Given the description of an element on the screen output the (x, y) to click on. 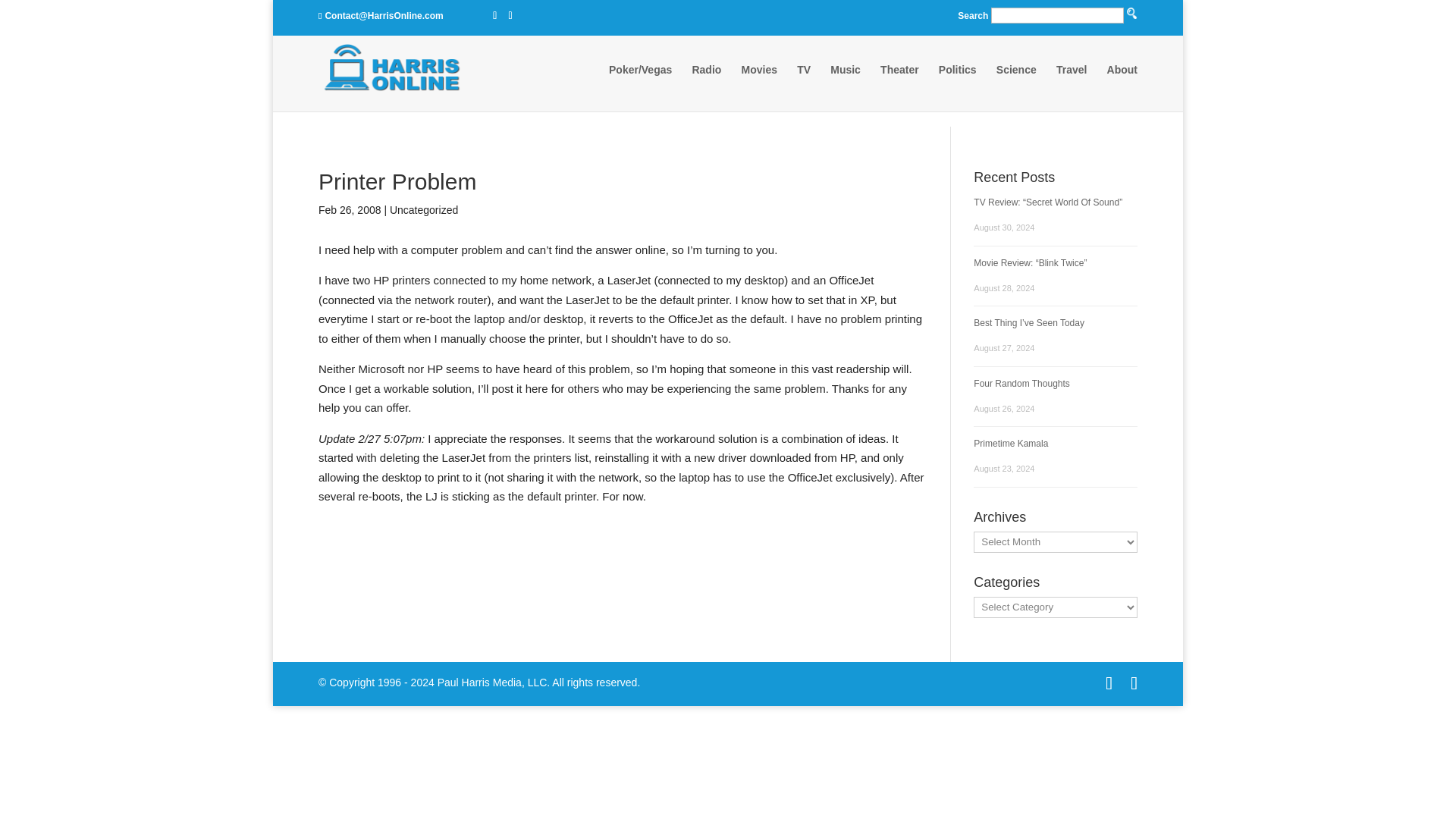
Politics (957, 84)
Four Random Thoughts (1022, 382)
Movies (759, 84)
Science (1015, 84)
Primetime Kamala (1011, 443)
Search (794, 128)
Theater (899, 84)
